Given the description of an element on the screen output the (x, y) to click on. 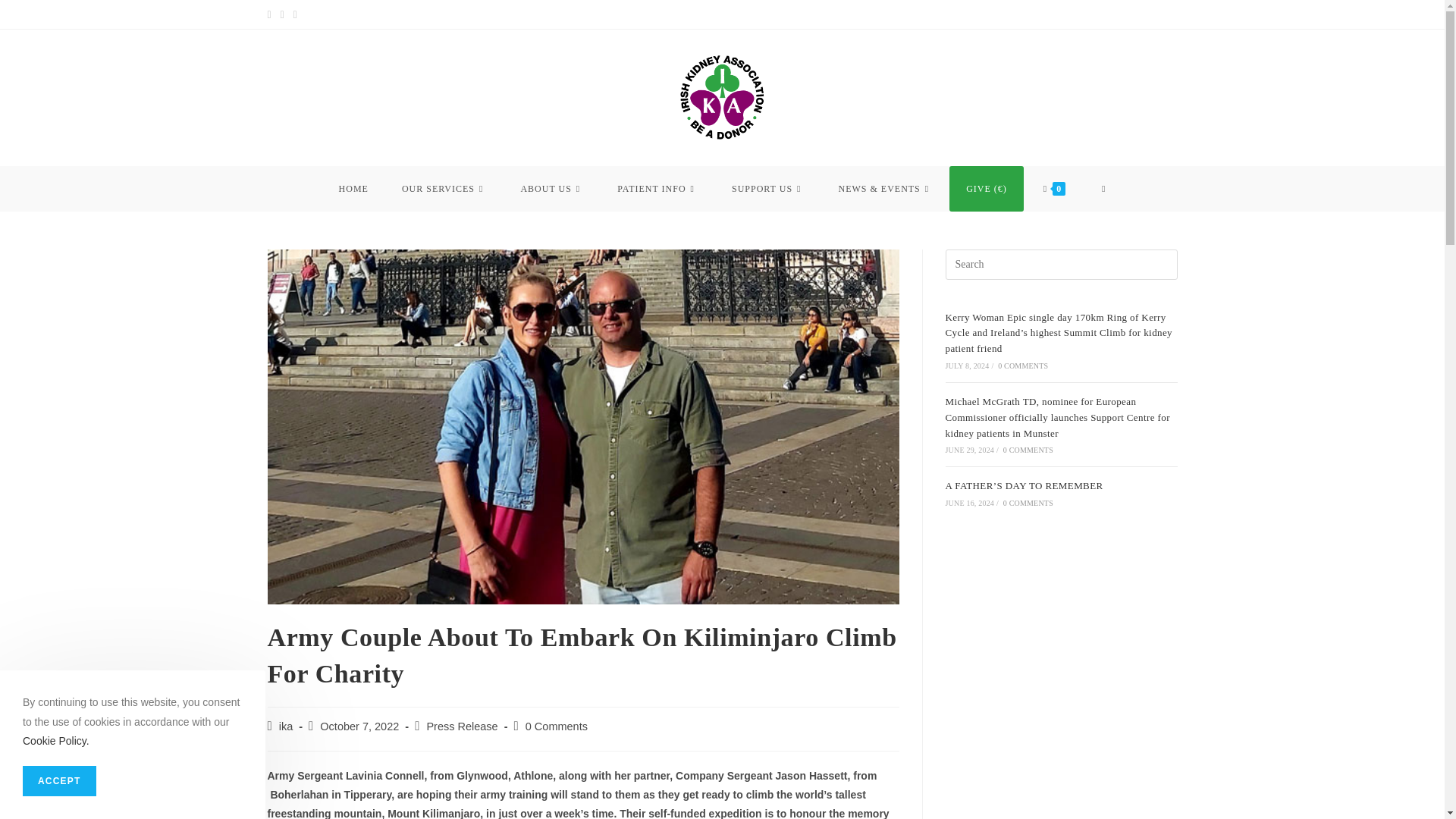
PATIENT INFO (656, 188)
GET A DONOR CARD (1053, 13)
WORK WITH US (1142, 13)
CONTACT US (970, 13)
SUPPORT US (767, 188)
OUR SERVICES (444, 188)
ABOUT US (551, 188)
HOME (353, 188)
Posts by ika (286, 726)
